Given the description of an element on the screen output the (x, y) to click on. 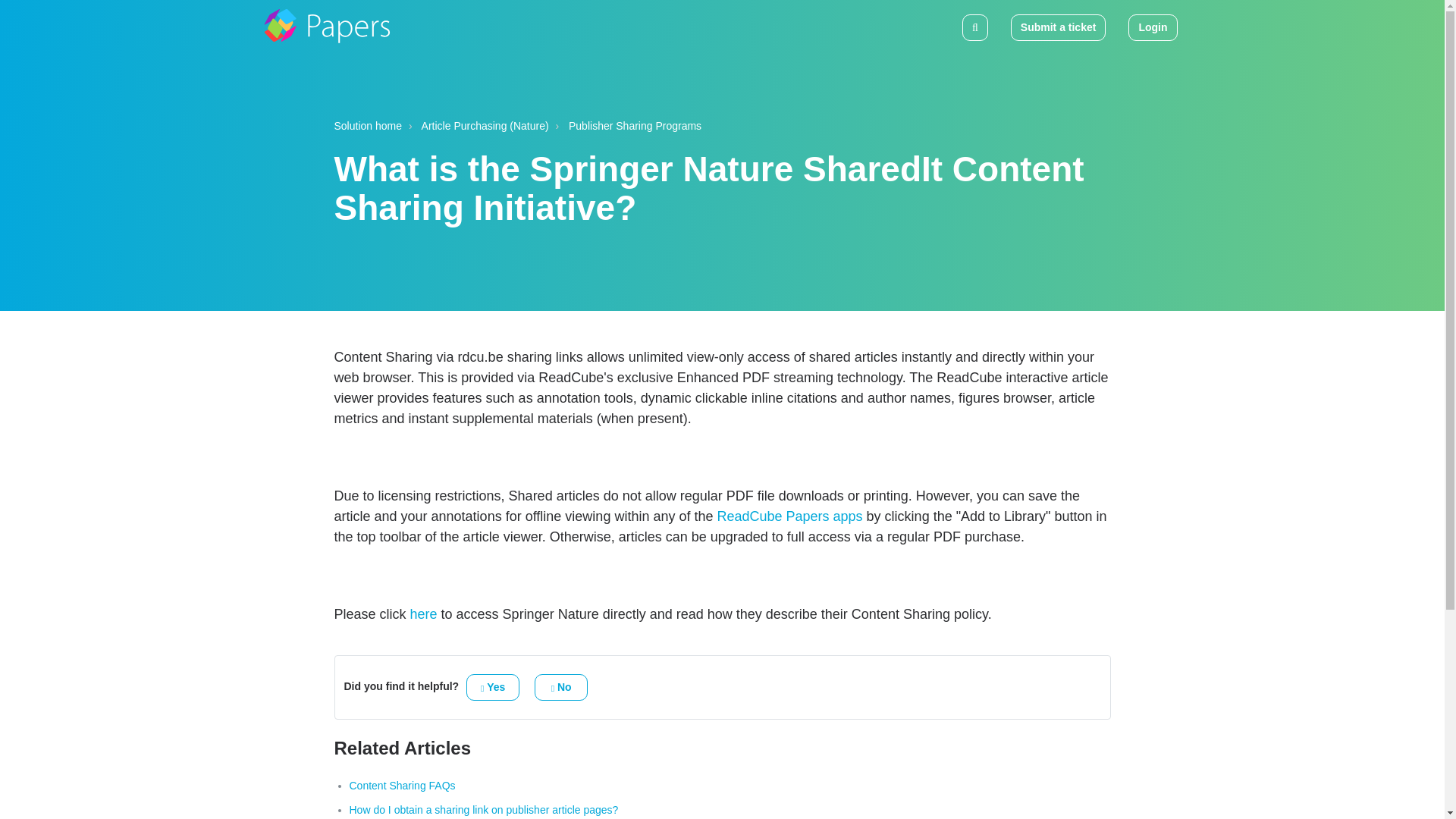
Solution home (367, 126)
How do I obtain a sharing link on publisher article pages? (483, 809)
Submit a ticket (1058, 26)
Solution home (367, 125)
Login (1152, 26)
here (424, 613)
ReadCube Papers apps (788, 516)
Content Sharing FAQs (401, 785)
Publisher Sharing Programs (626, 126)
Publisher Sharing Programs (635, 125)
